Given the description of an element on the screen output the (x, y) to click on. 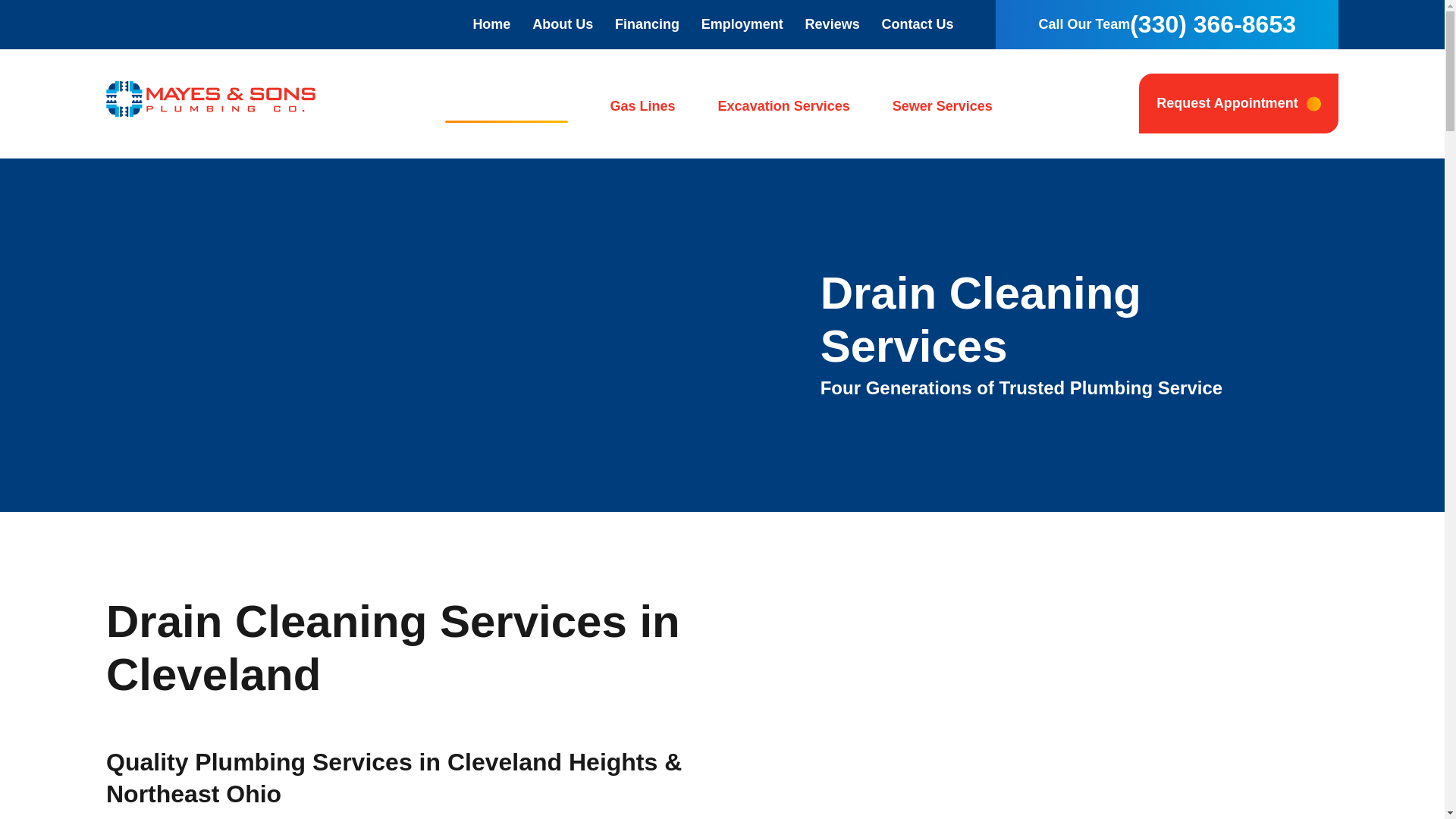
About Us (562, 23)
Home (491, 23)
Mayes and Sons Plumbing (210, 99)
Sewer Services (941, 103)
Plumbing Services (505, 103)
Gas Lines (643, 103)
Contact Us (916, 23)
Financing (646, 23)
Open the accessibility options menu (1412, 786)
Arrow (1313, 103)
Reviews (832, 23)
Excavation Services (783, 103)
Employment (742, 23)
Request Appointment (1238, 103)
